Given the description of an element on the screen output the (x, y) to click on. 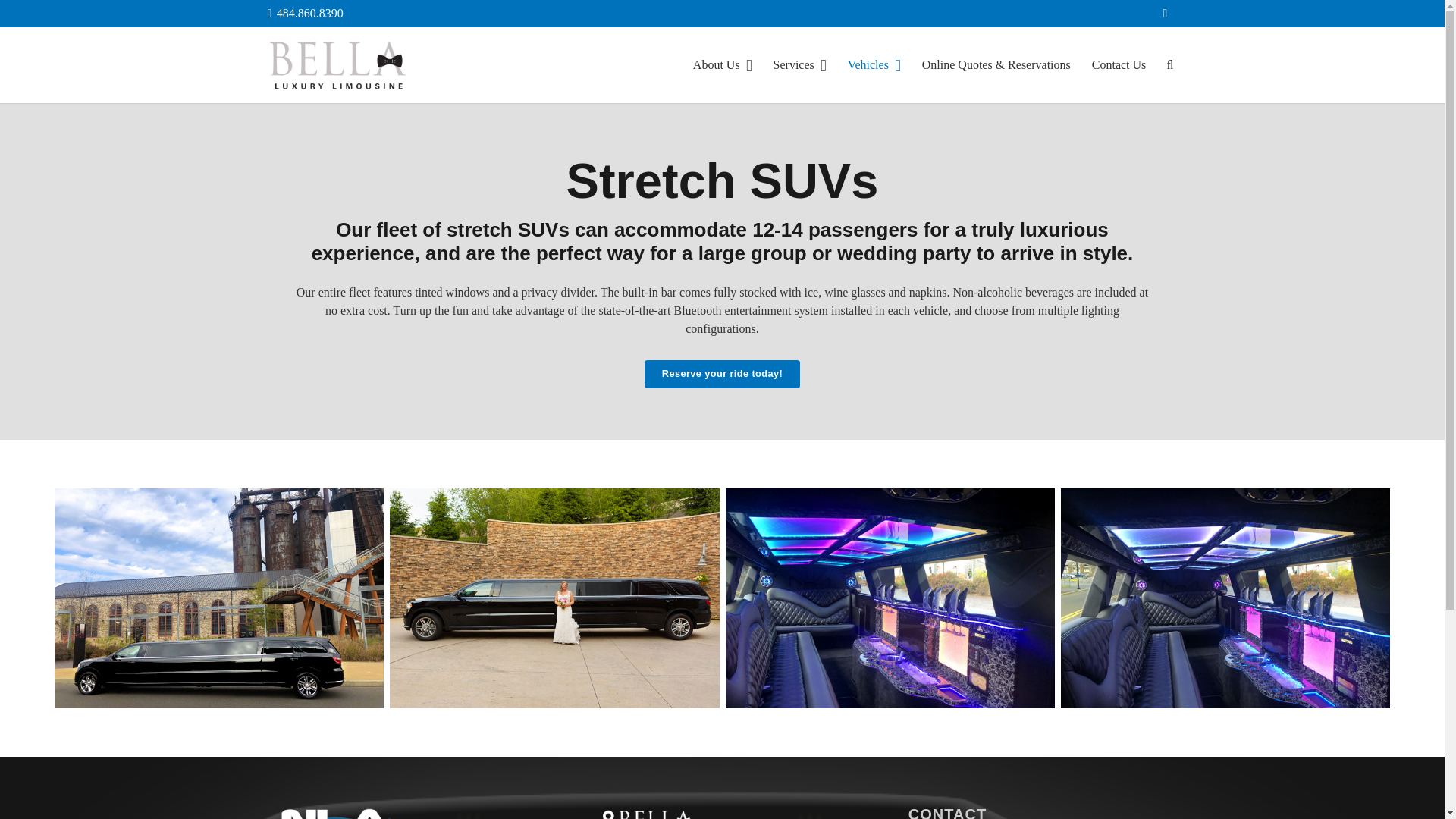
About Us (722, 65)
Contact Us (1119, 65)
Reserve your ride today! (722, 373)
Bella Luxury Limo Stretch SUVs (219, 598)
Vehicles (874, 65)
Bella Luxury Limo Stretch SUVs (554, 598)
Facebook (1165, 13)
Services (799, 65)
Bella Luxury Limo Stretch SUVs (1225, 598)
Bella Luxury Limo Stretch SUVs (889, 598)
